Given the description of an element on the screen output the (x, y) to click on. 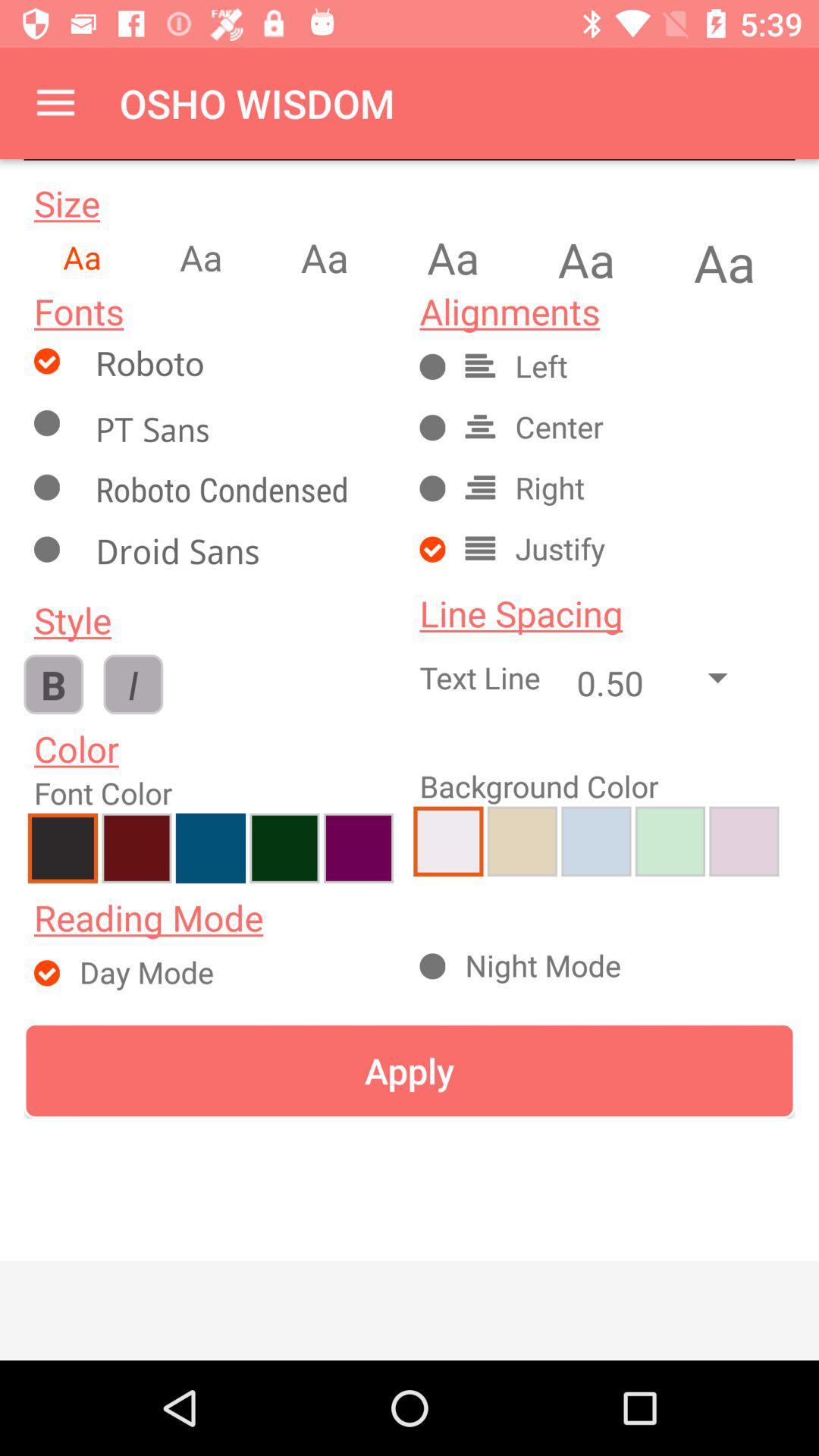
press item below the day mode (409, 1070)
